Given the description of an element on the screen output the (x, y) to click on. 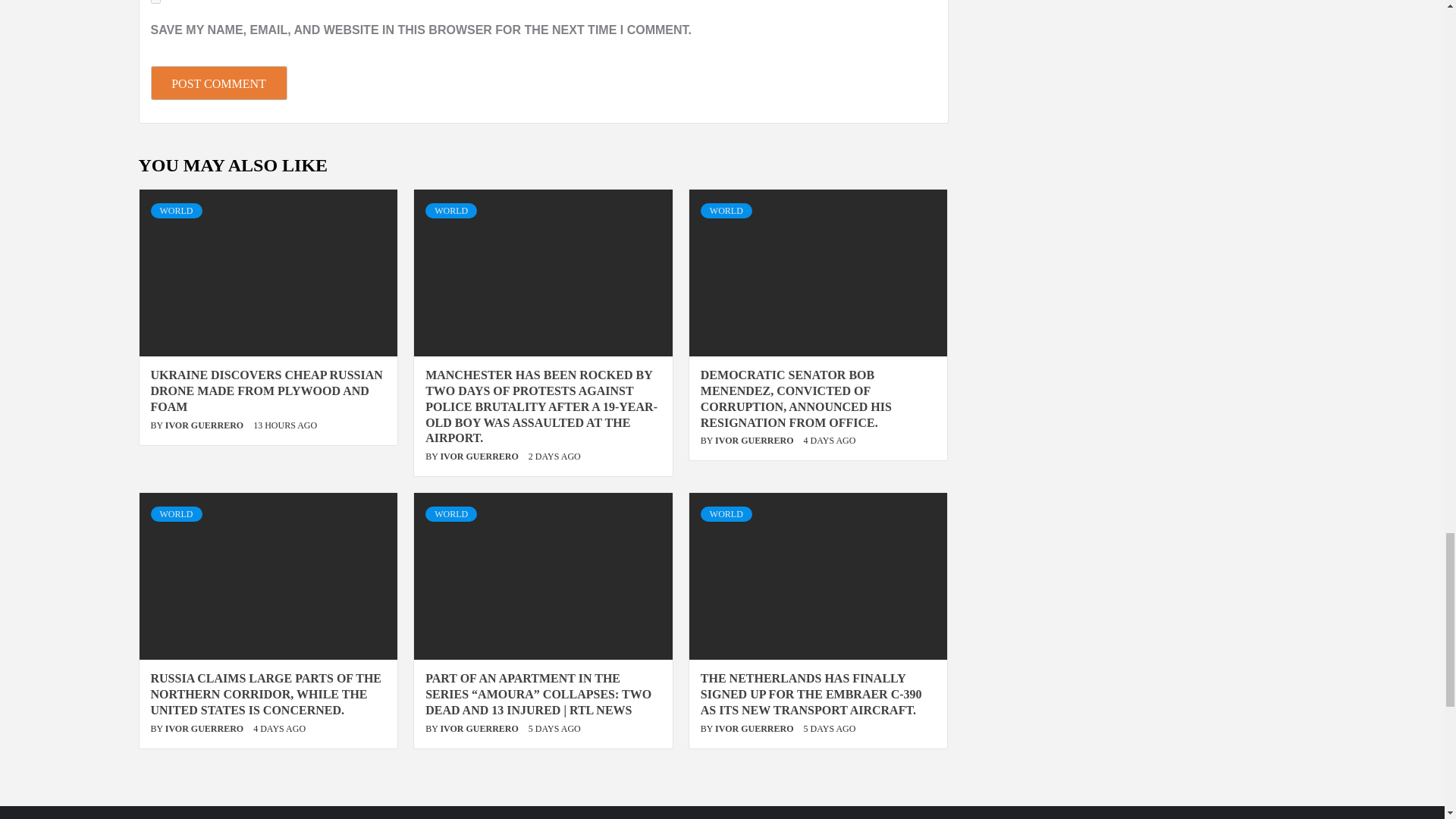
WORLD (175, 210)
Post Comment (217, 82)
IVOR GUERRERO (754, 439)
WORLD (451, 210)
WORLD (726, 210)
IVOR GUERRERO (479, 456)
Post Comment (217, 82)
IVOR GUERRERO (205, 425)
WORLD (175, 513)
IVOR GUERRERO (205, 728)
